Given the description of an element on the screen output the (x, y) to click on. 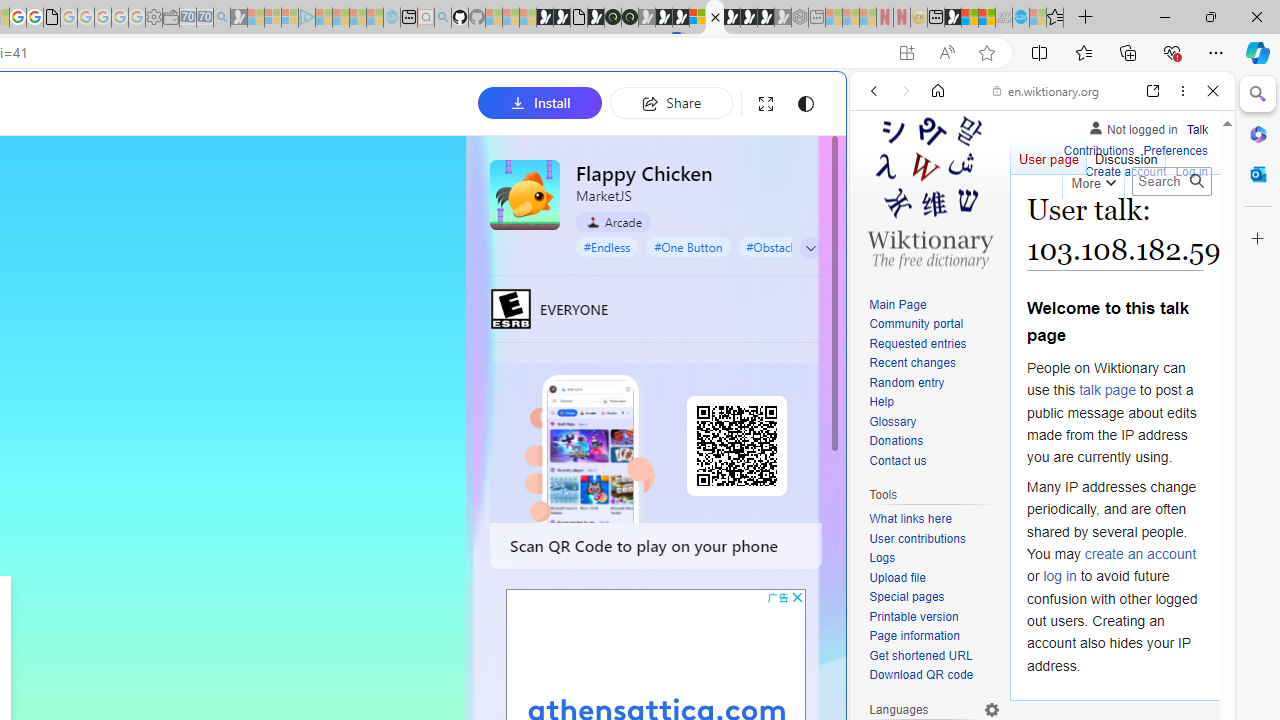
What links here (910, 519)
Bing Real Estate - Home sales and rental listings - Sleeping (221, 17)
Wallet - Sleeping (170, 17)
Requested entries (934, 344)
Class: b_serphb (1190, 229)
Get shortened URL (920, 655)
Main Page (934, 305)
Search the web (1051, 137)
Community portal (934, 324)
